Given the description of an element on the screen output the (x, y) to click on. 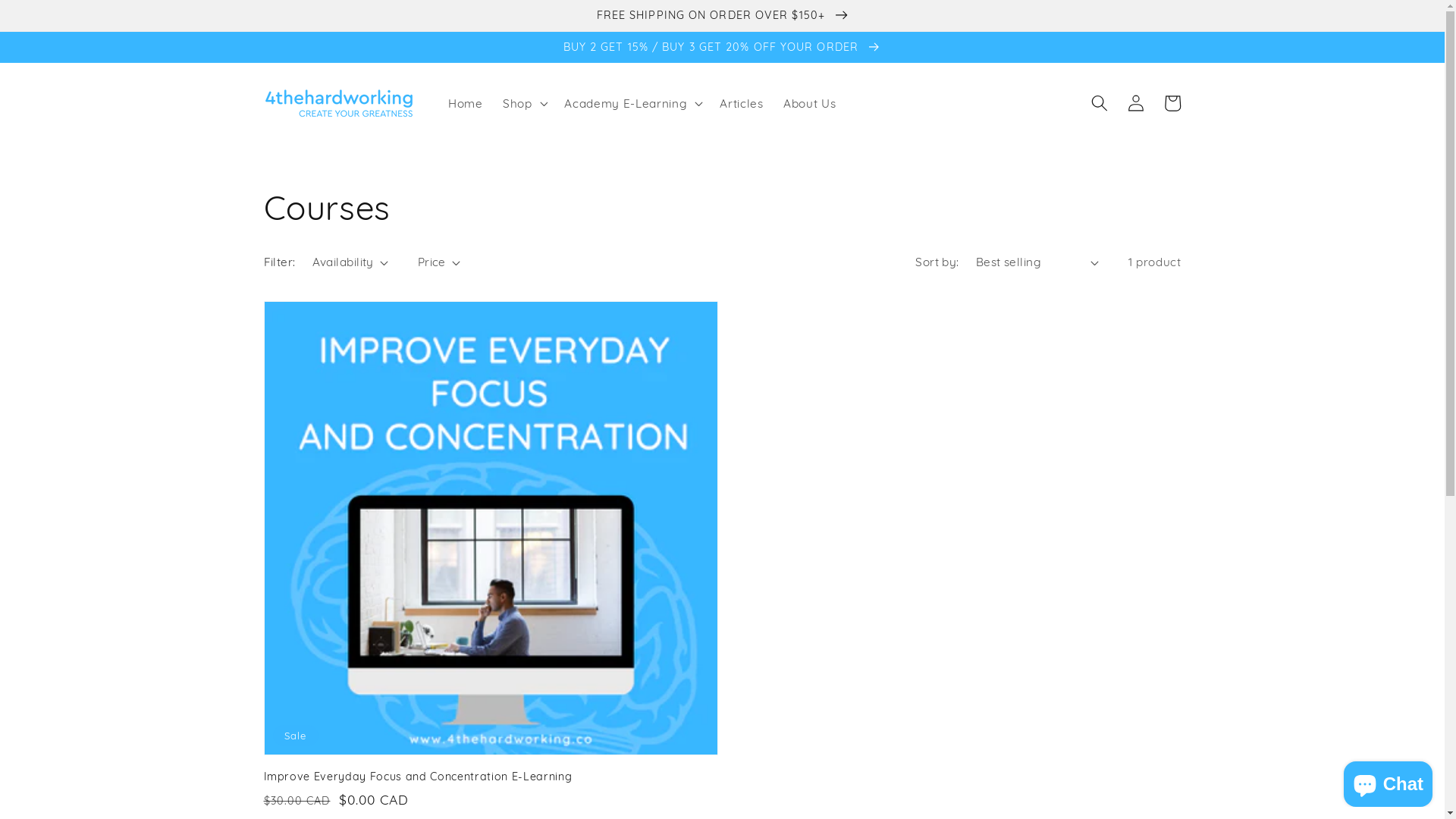
Log in Element type: text (1135, 102)
Articles Element type: text (741, 102)
About Us Element type: text (809, 102)
BUY 2 GET 15% / BUY 3 GET 20% OFF YOUR ORDER Element type: text (722, 46)
Cart Element type: text (1172, 102)
Home Element type: text (465, 102)
FREE SHIPPING ON ORDER OVER $150+ Element type: text (722, 15)
Shopify online store chat Element type: hover (1388, 780)
Improve Everyday Focus and Concentration E-Learning Element type: text (485, 776)
